Given the description of an element on the screen output the (x, y) to click on. 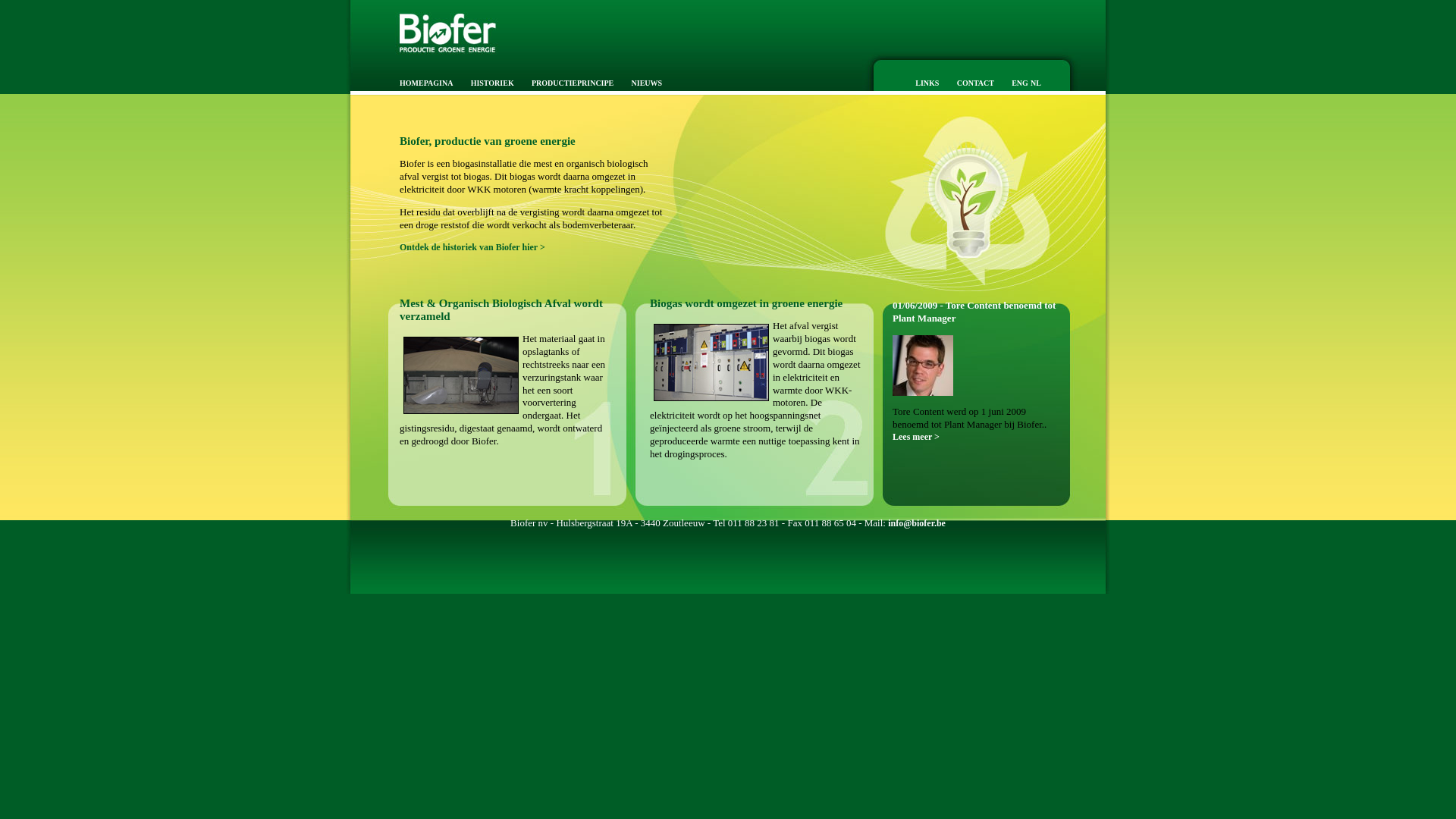
productieprincipe Element type: text (564, 81)
nl Element type: text (1035, 81)
homepagina Element type: text (418, 81)
historiek Element type: text (484, 81)
contact Element type: text (967, 81)
eng Element type: text (1012, 81)
Ontdek de historiek van Biofer hier > Element type: text (472, 246)
info@biofer.be Element type: text (916, 522)
links Element type: text (919, 81)
nieuws Element type: text (639, 81)
Lees meer > Element type: text (915, 436)
